Given the description of an element on the screen output the (x, y) to click on. 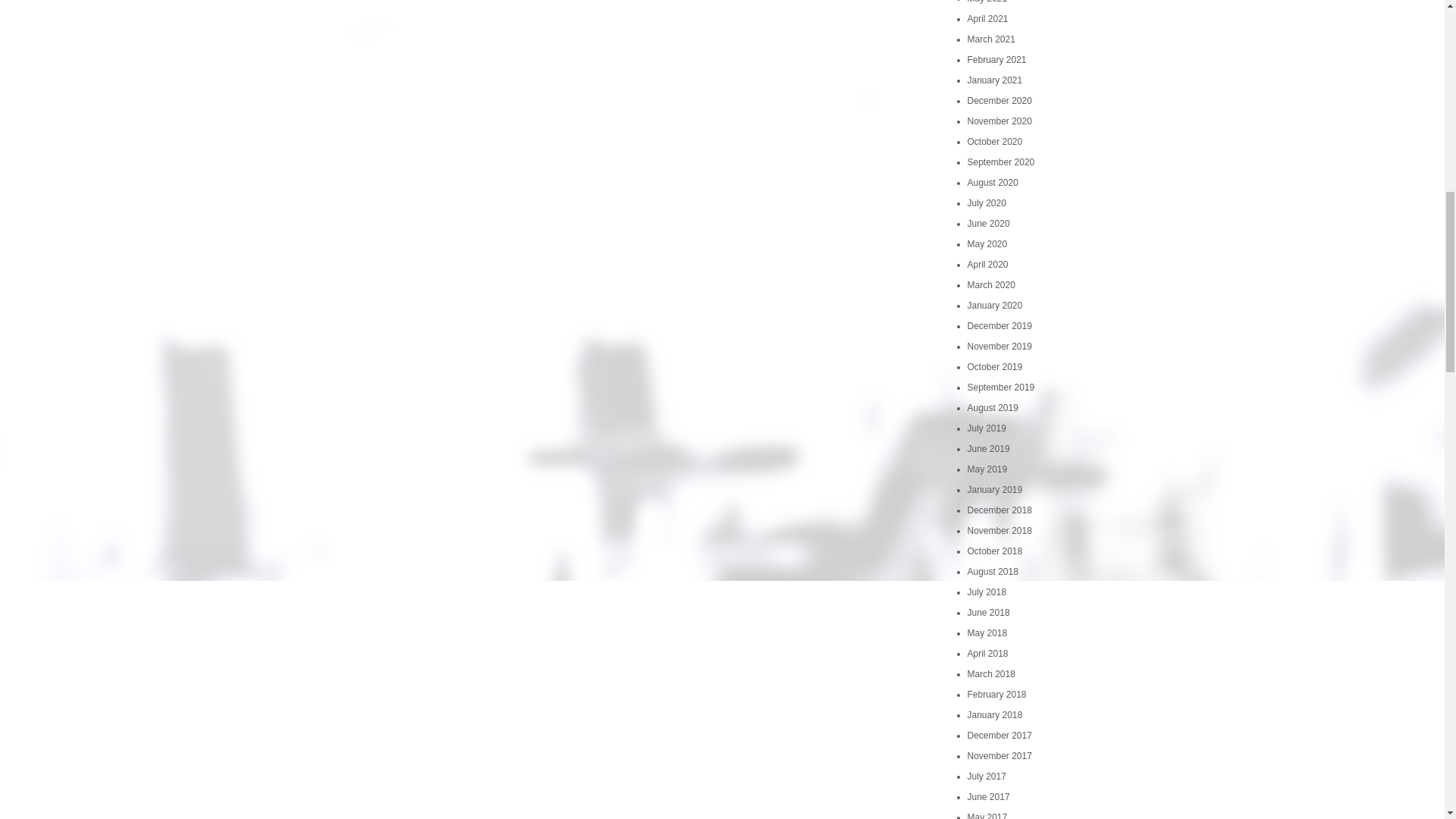
December 2020 (1000, 100)
May 2020 (987, 244)
July 2020 (987, 203)
November 2020 (1000, 121)
March 2021 (991, 39)
June 2020 (989, 223)
April 2021 (988, 18)
May 2021 (987, 2)
February 2021 (997, 59)
September 2020 (1001, 162)
October 2020 (995, 141)
April 2020 (988, 264)
January 2021 (995, 80)
August 2020 (992, 182)
